Given the description of an element on the screen output the (x, y) to click on. 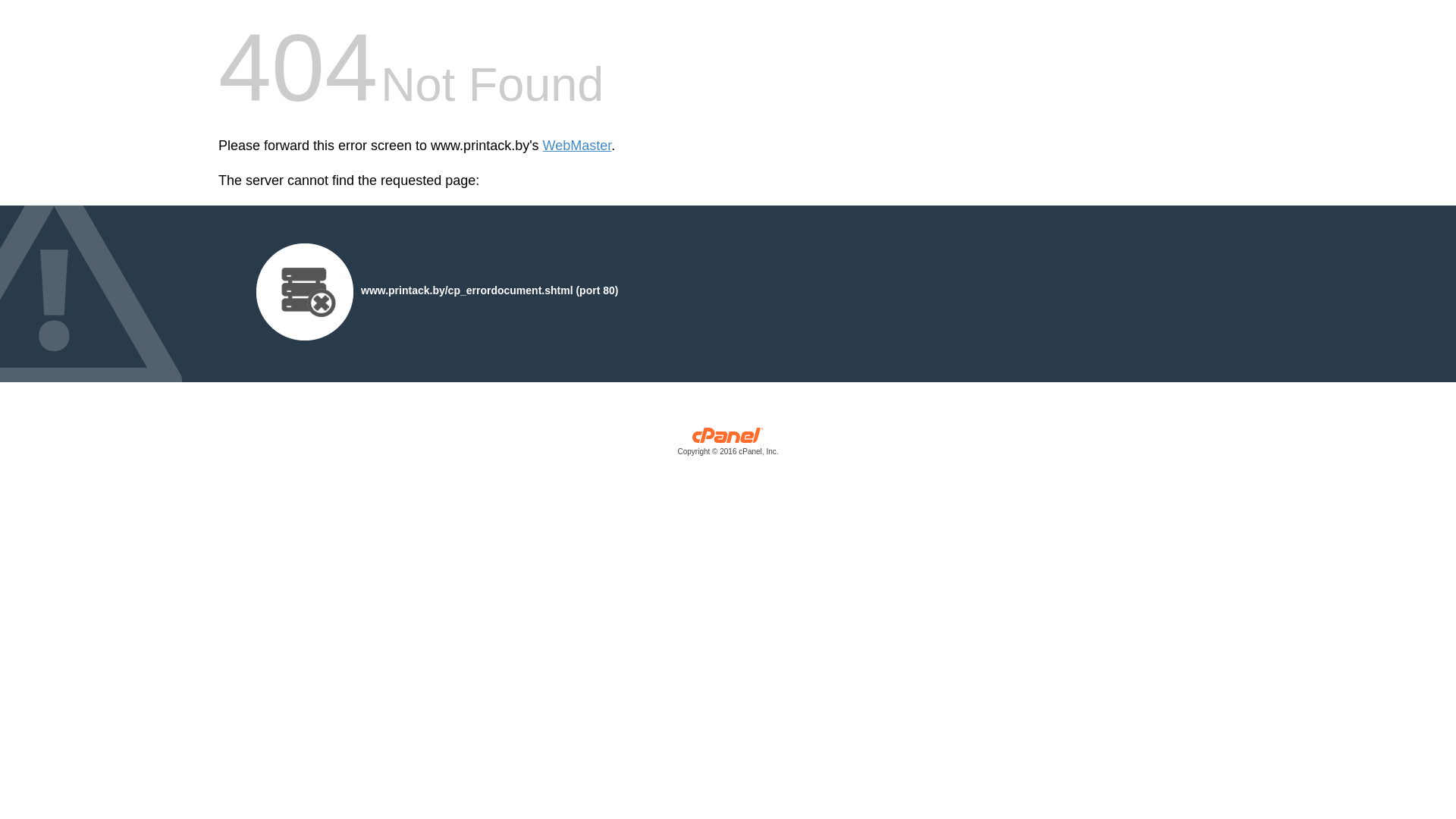
WebMaster Element type: text (576, 145)
